Given the description of an element on the screen output the (x, y) to click on. 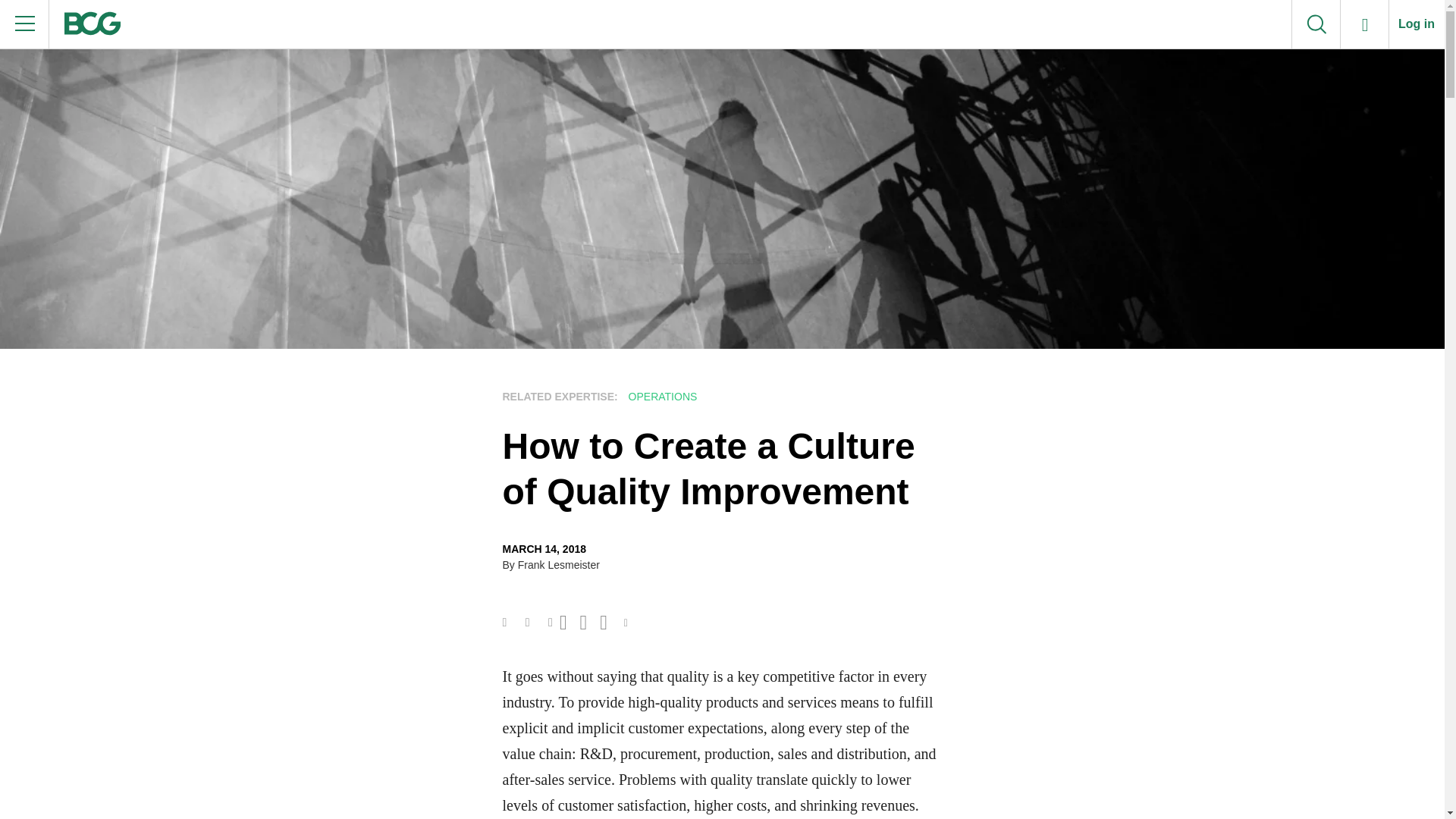
Log in (1416, 24)
OPERATIONS (660, 396)
